Given the description of an element on the screen output the (x, y) to click on. 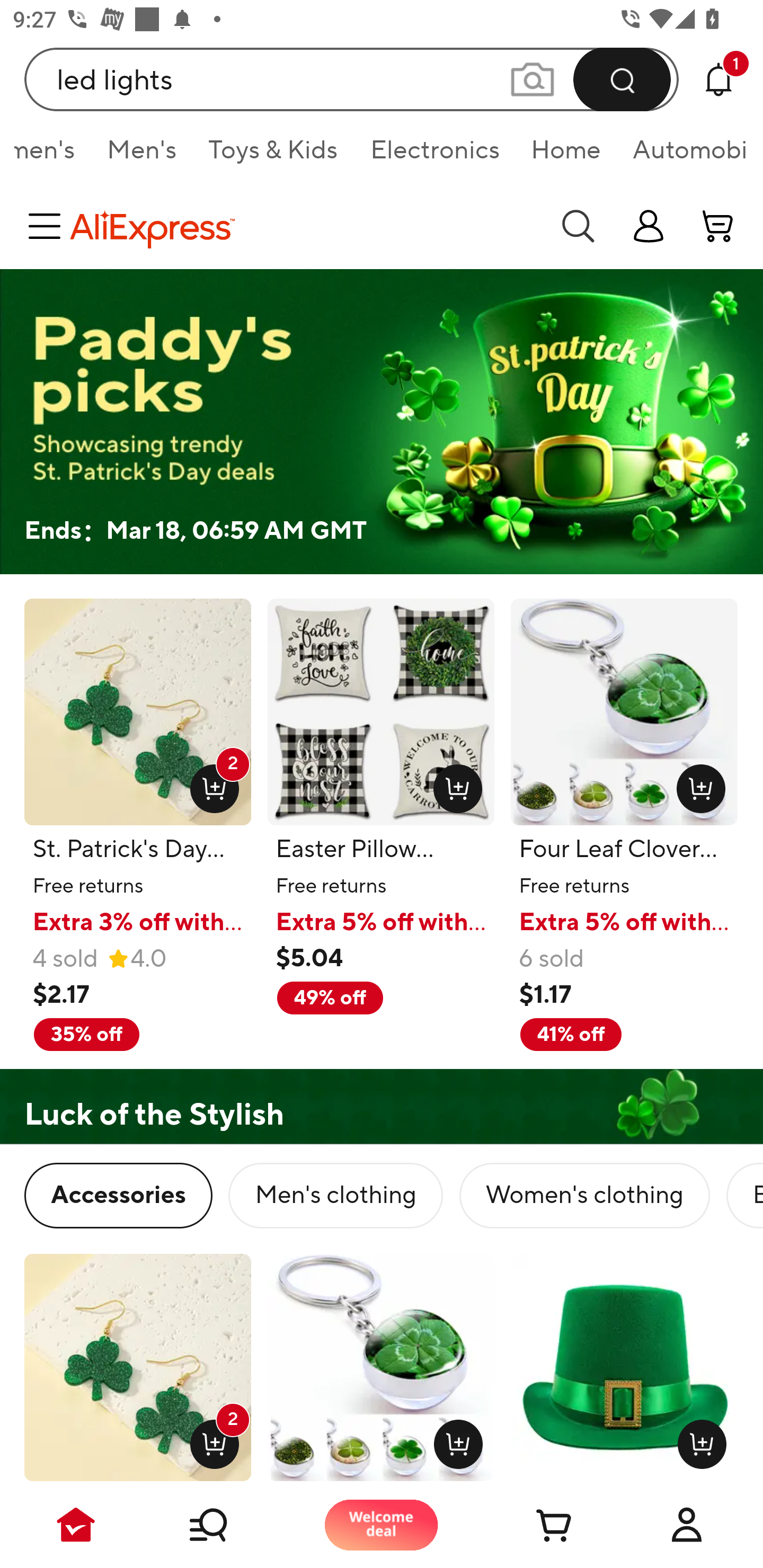
led lights (351, 79)
Women's (52, 155)
Men's (141, 155)
Toys & Kids (273, 155)
Electronics (434, 155)
Home (565, 155)
Automobile (681, 155)
aliexpress (305, 225)
category (47, 225)
shop (648, 225)
account (718, 225)
2 128x128.png_ (210, 784)
128x128.png_ (453, 784)
128x128.png_ (695, 784)
Accessories (117, 1195)
Men's clothing (335, 1195)
Women's clothing (583, 1195)
2 128x128.png_ (210, 1439)
128x128.png_ (454, 1439)
128x128.png_ (697, 1439)
Shop (228, 1524)
Cart (533, 1524)
Account (686, 1524)
